Given the description of an element on the screen output the (x, y) to click on. 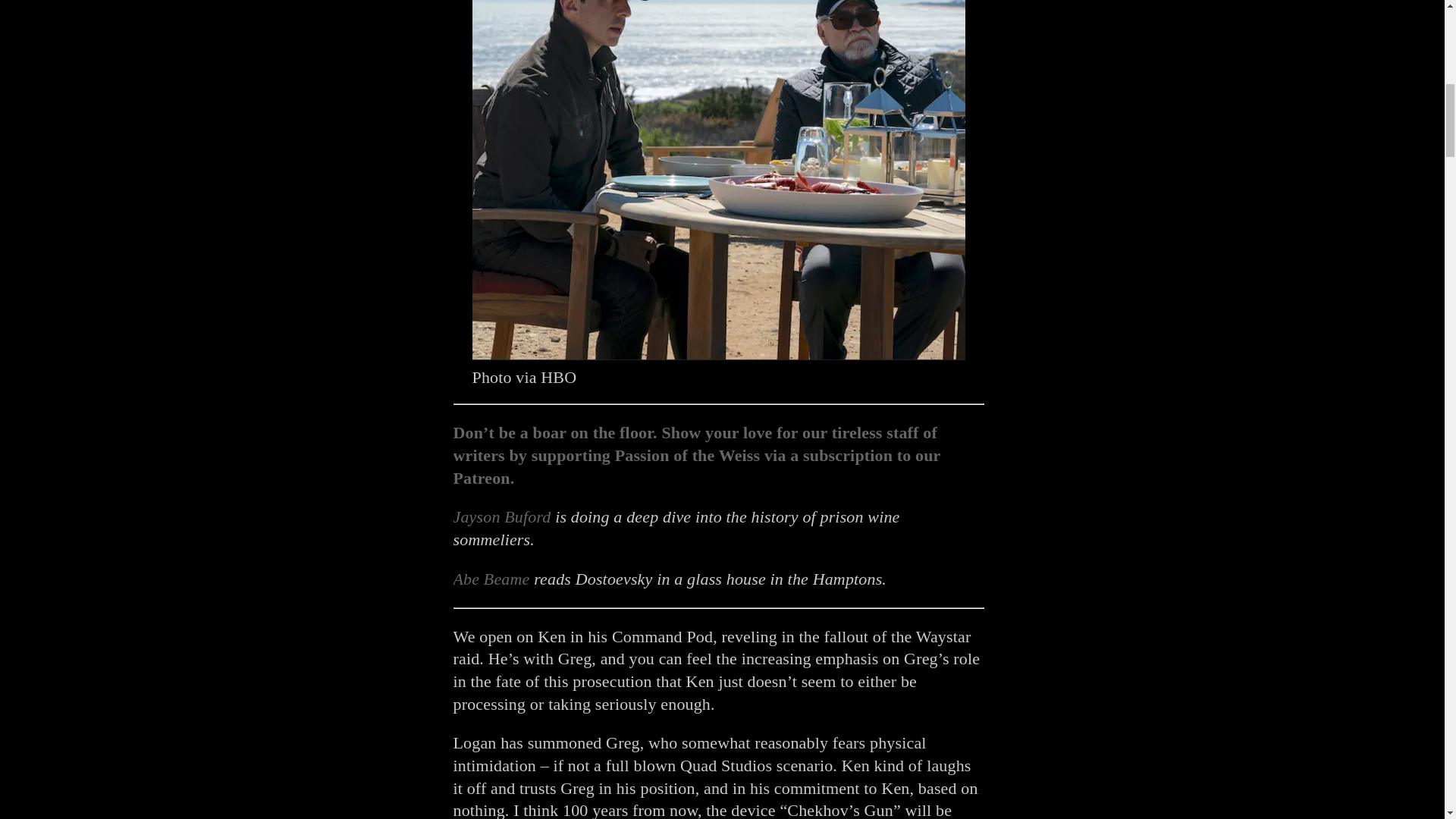
Abe Beame (490, 578)
Jayson Buford (501, 516)
